Given the description of an element on the screen output the (x, y) to click on. 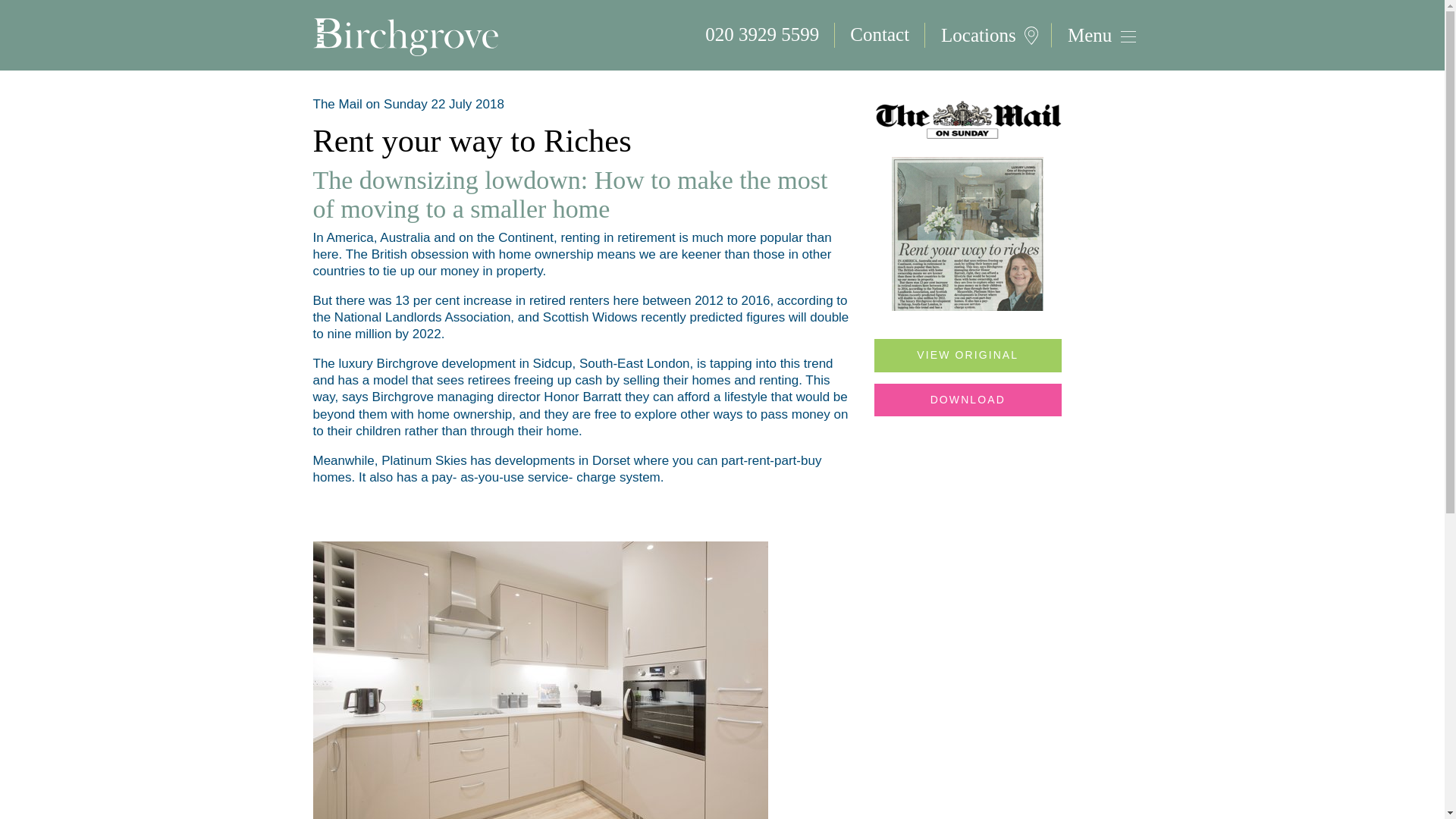
DOWNLOAD (967, 400)
VIEW ORIGINAL (967, 355)
Contact (879, 34)
Locations (987, 34)
020 3929 5599 (762, 34)
Menu (1091, 34)
